Given the description of an element on the screen output the (x, y) to click on. 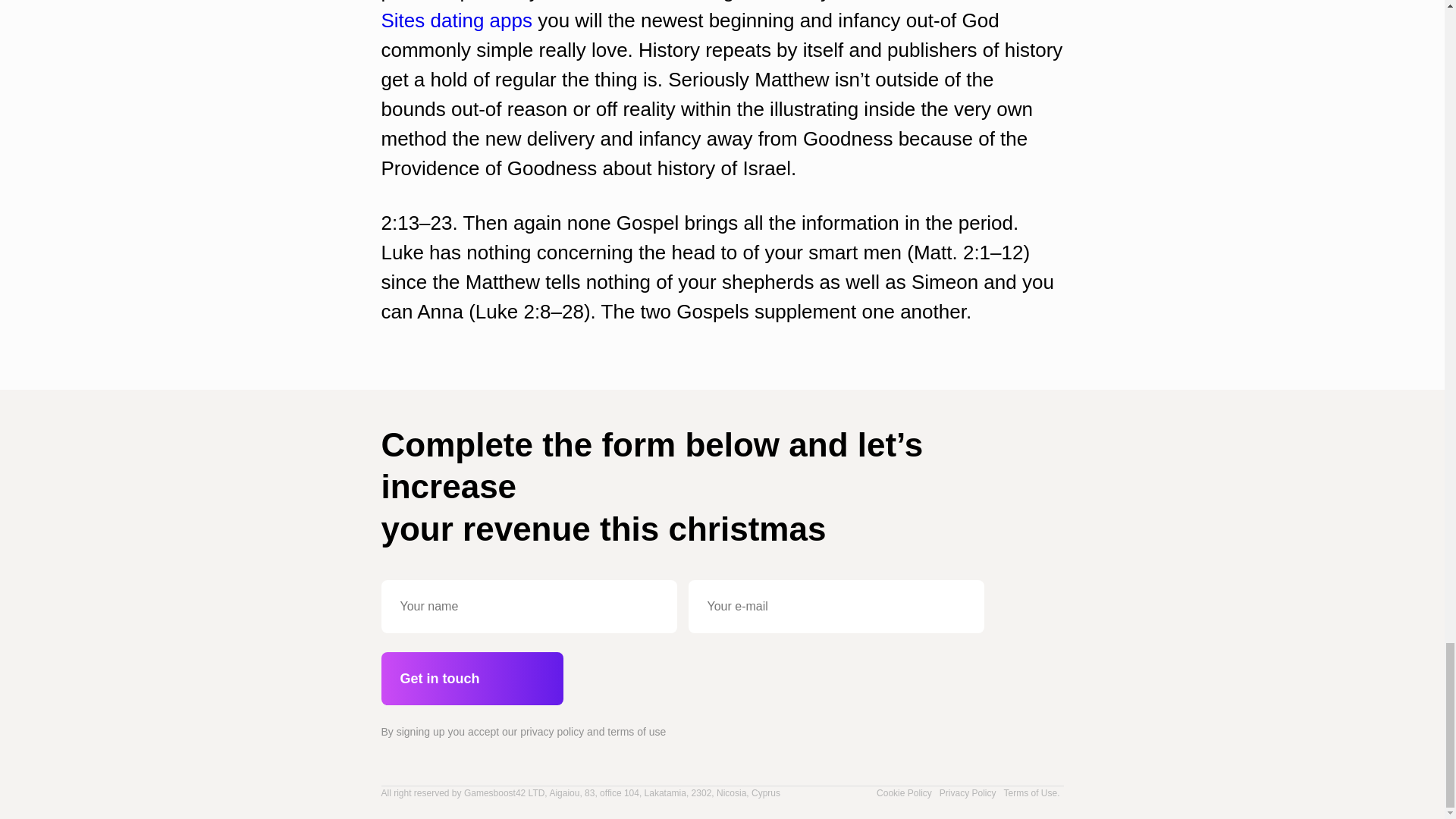
Privacy Policy (968, 793)
Chinese Sites dating apps (701, 15)
Get in touch (471, 678)
Get in touch (471, 678)
Terms of Use. (1030, 793)
Cookie Policy (904, 793)
